Given the description of an element on the screen output the (x, y) to click on. 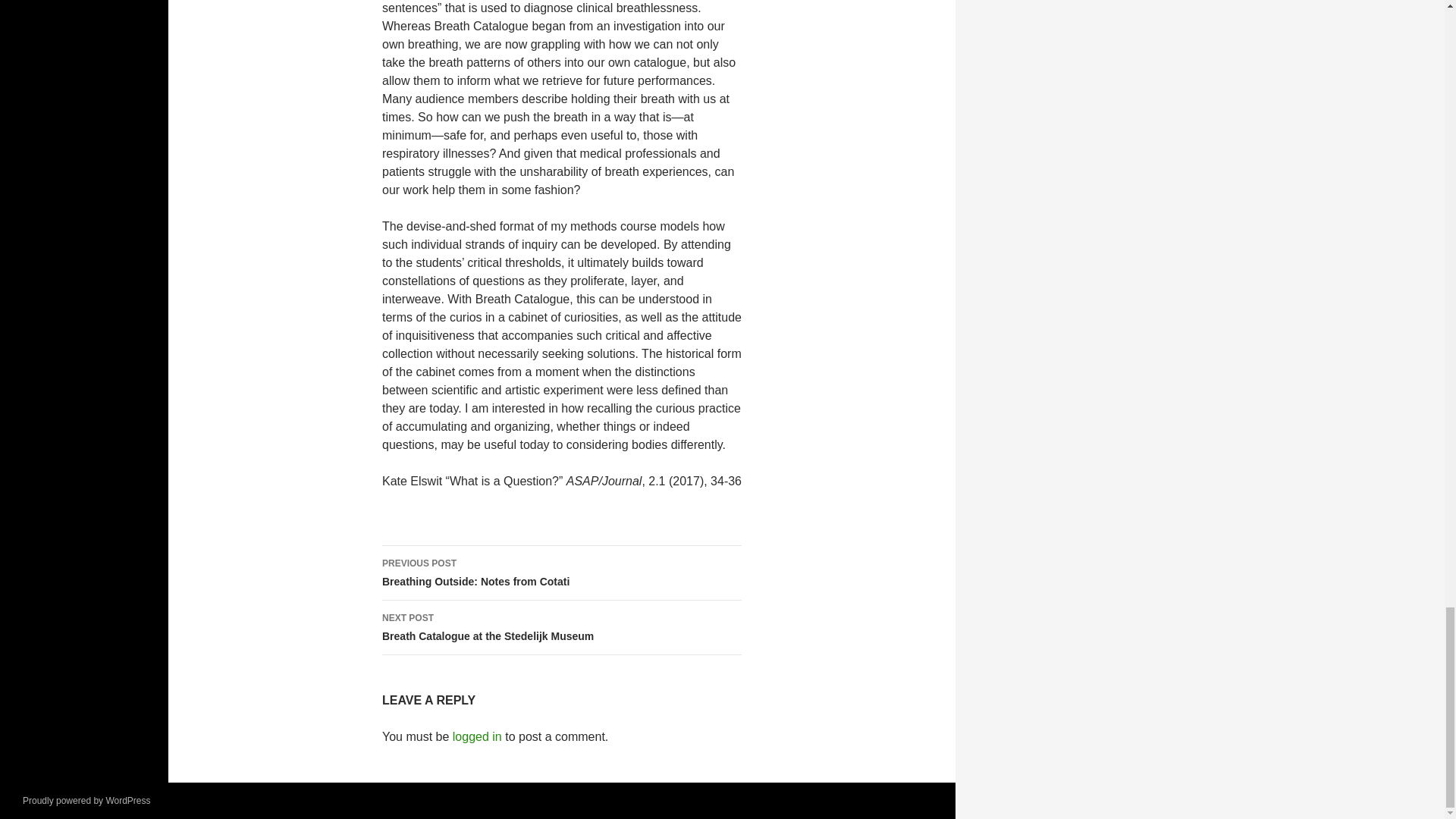
Proudly powered by WordPress (561, 573)
logged in (561, 627)
